Given the description of an element on the screen output the (x, y) to click on. 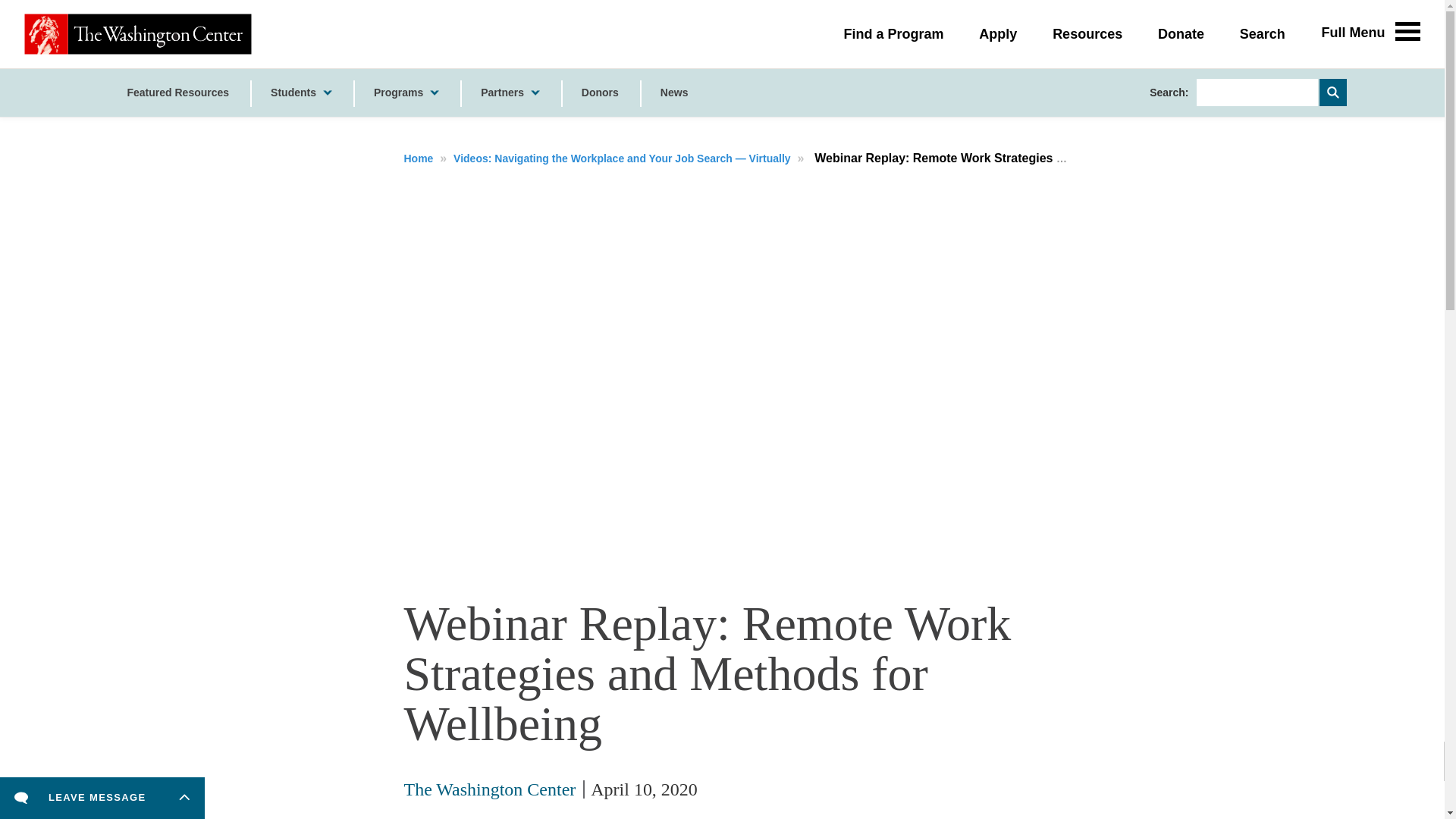
The Washington Center (137, 33)
Donate (1180, 34)
Full Menu (1359, 31)
Search (1262, 34)
Apply (997, 34)
Resources (1087, 34)
Find a Program (893, 34)
